Given the description of an element on the screen output the (x, y) to click on. 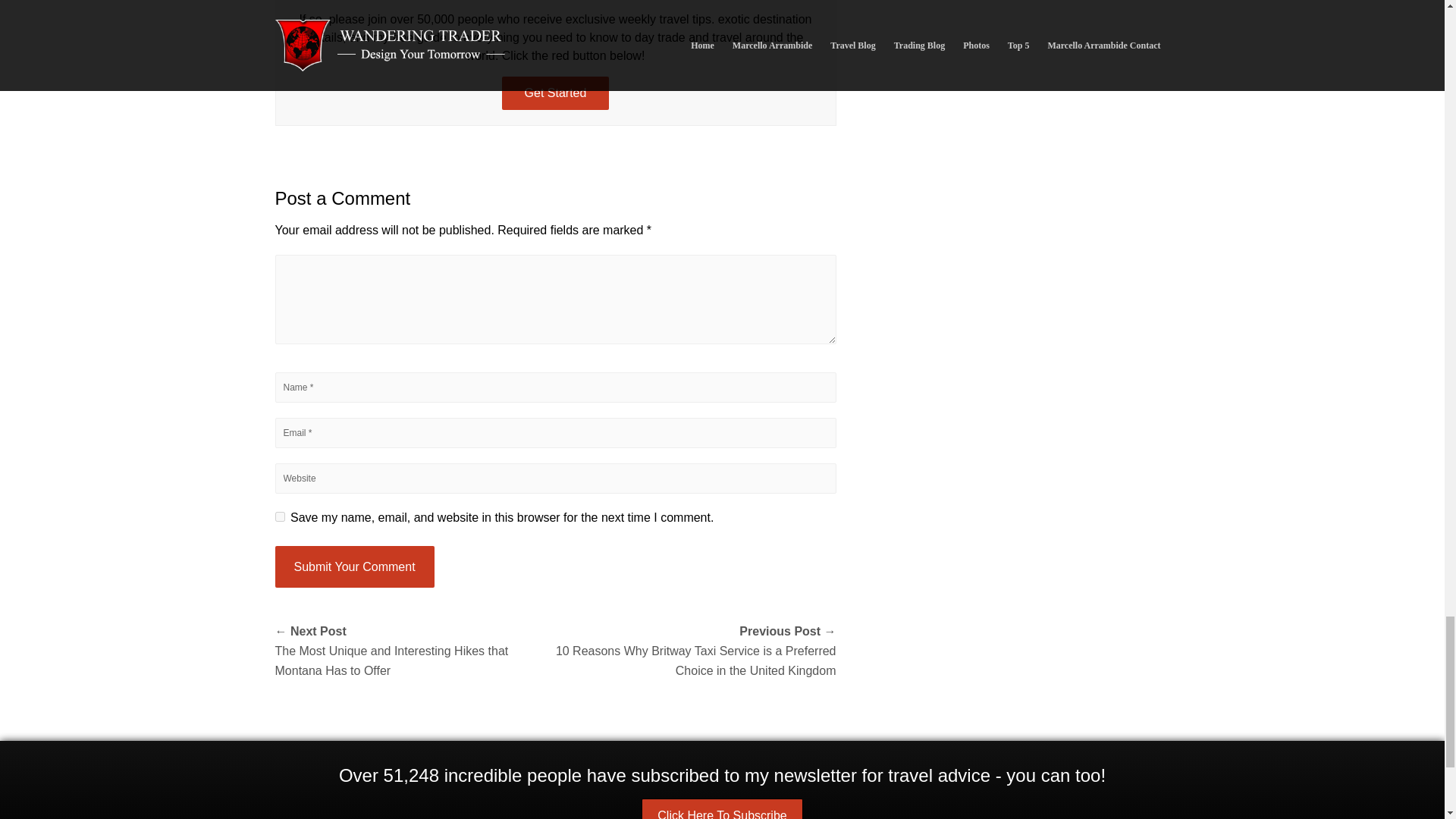
Submit Your Comment (354, 567)
Submit Your Comment (354, 567)
Get Started (556, 92)
yes (279, 516)
